Given the description of an element on the screen output the (x, y) to click on. 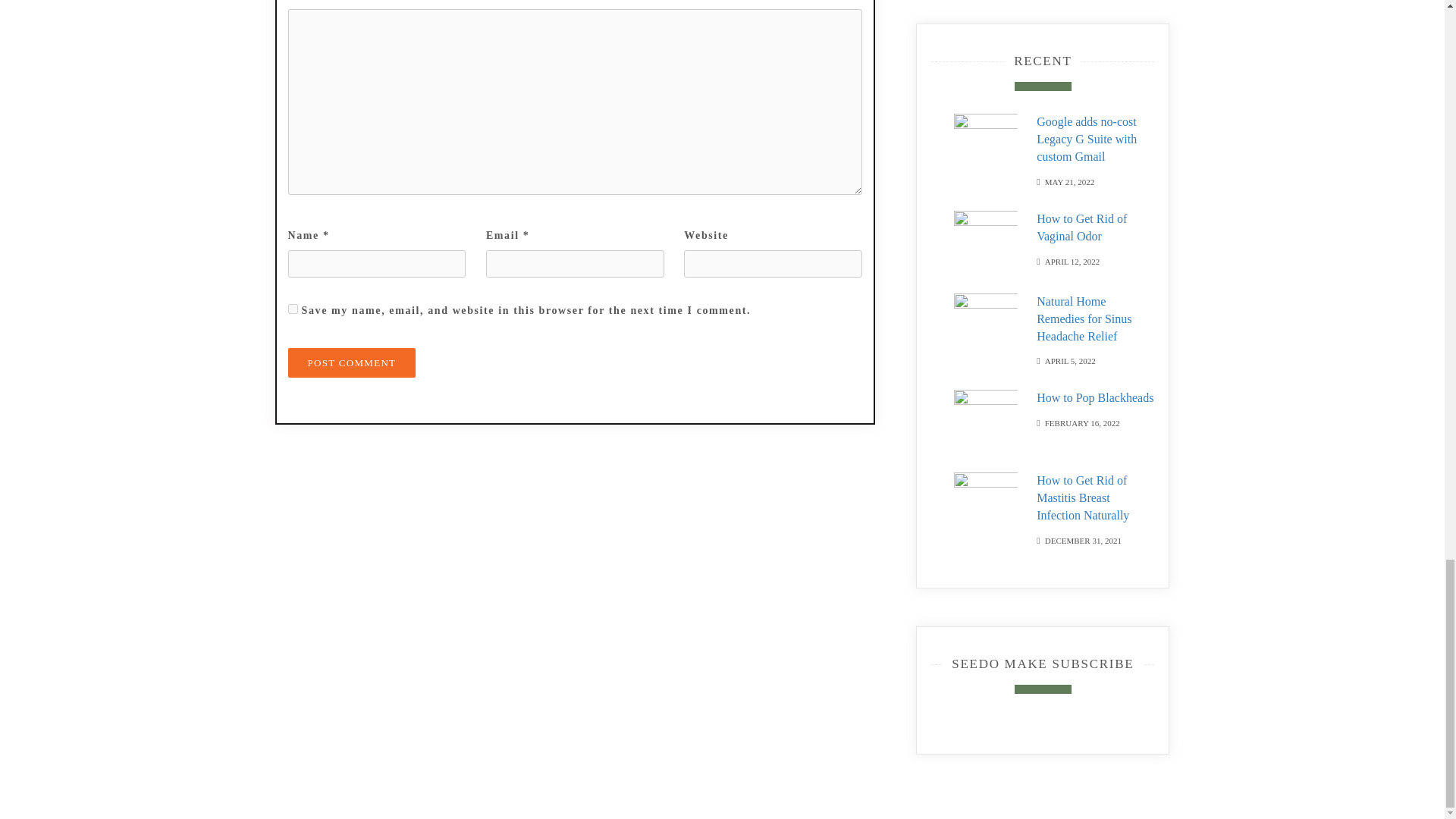
Post Comment (352, 362)
Post Comment (352, 362)
yes (293, 308)
